Given the description of an element on the screen output the (x, y) to click on. 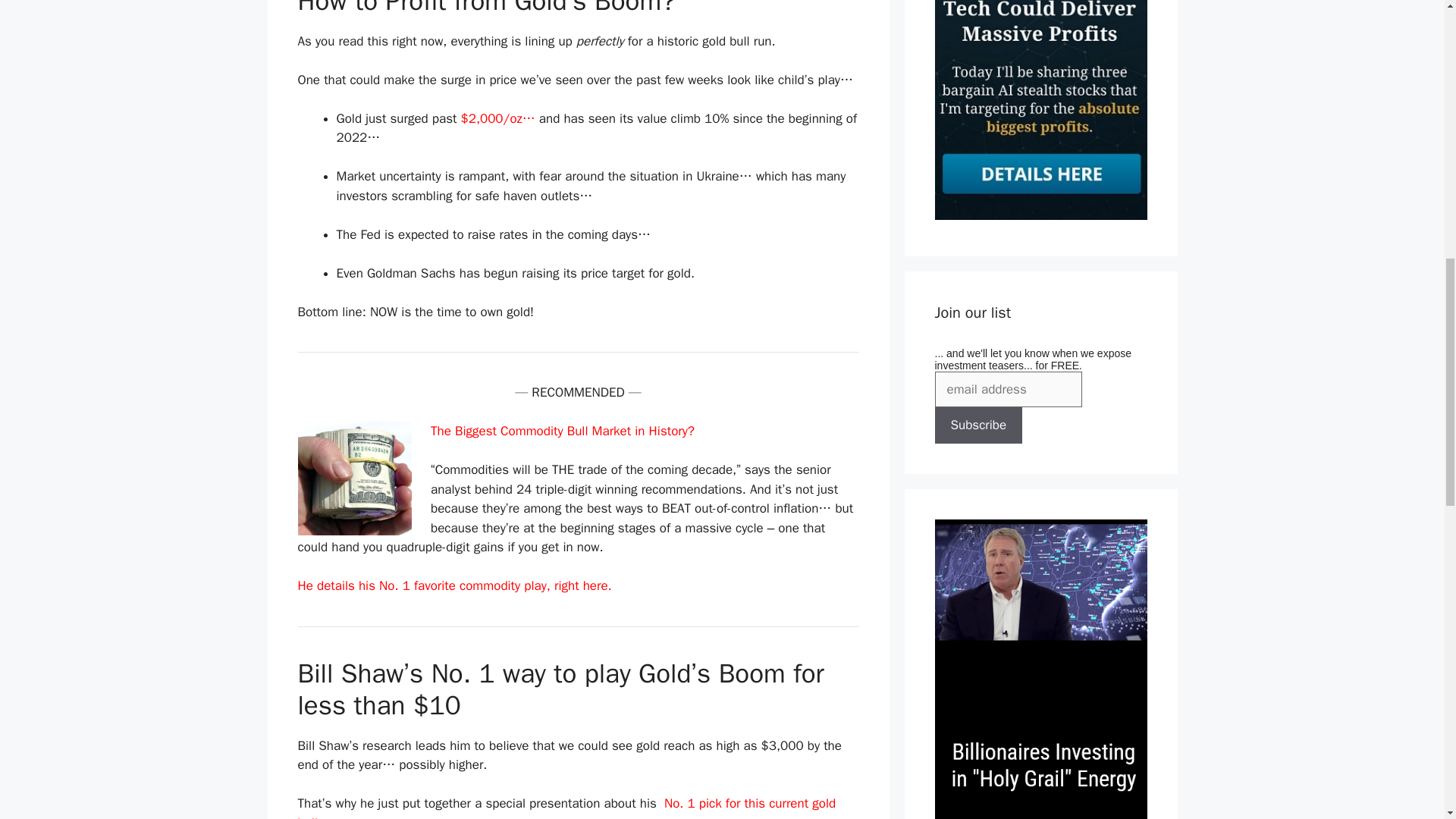
Manward Money Report Review (1040, 215)
He details his No. 1 favorite commodity play, right here. (454, 585)
No. 1 pick for this current gold bull run. (566, 807)
The Biggest Commodity Bull Market in History? (562, 430)
Subscribe (978, 425)
